Given the description of an element on the screen output the (x, y) to click on. 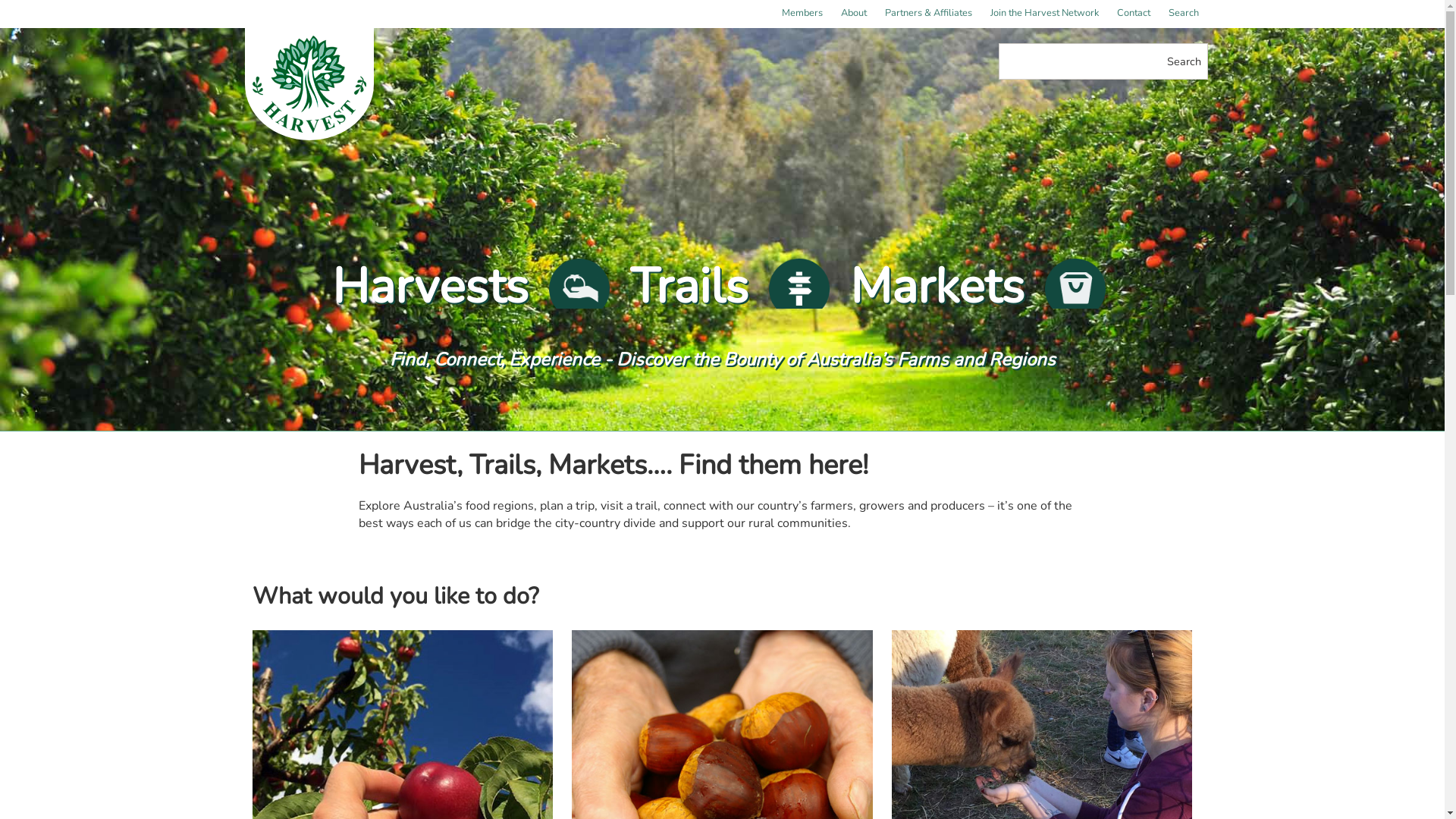
Members Element type: text (801, 13)
Join the Harvest Network Element type: text (1044, 13)
Search Element type: text (1183, 61)
About Element type: text (853, 13)
Partners & Affiliates Element type: text (927, 13)
Contact Element type: text (1132, 13)
Search Element type: text (1182, 13)
